Given the description of an element on the screen output the (x, y) to click on. 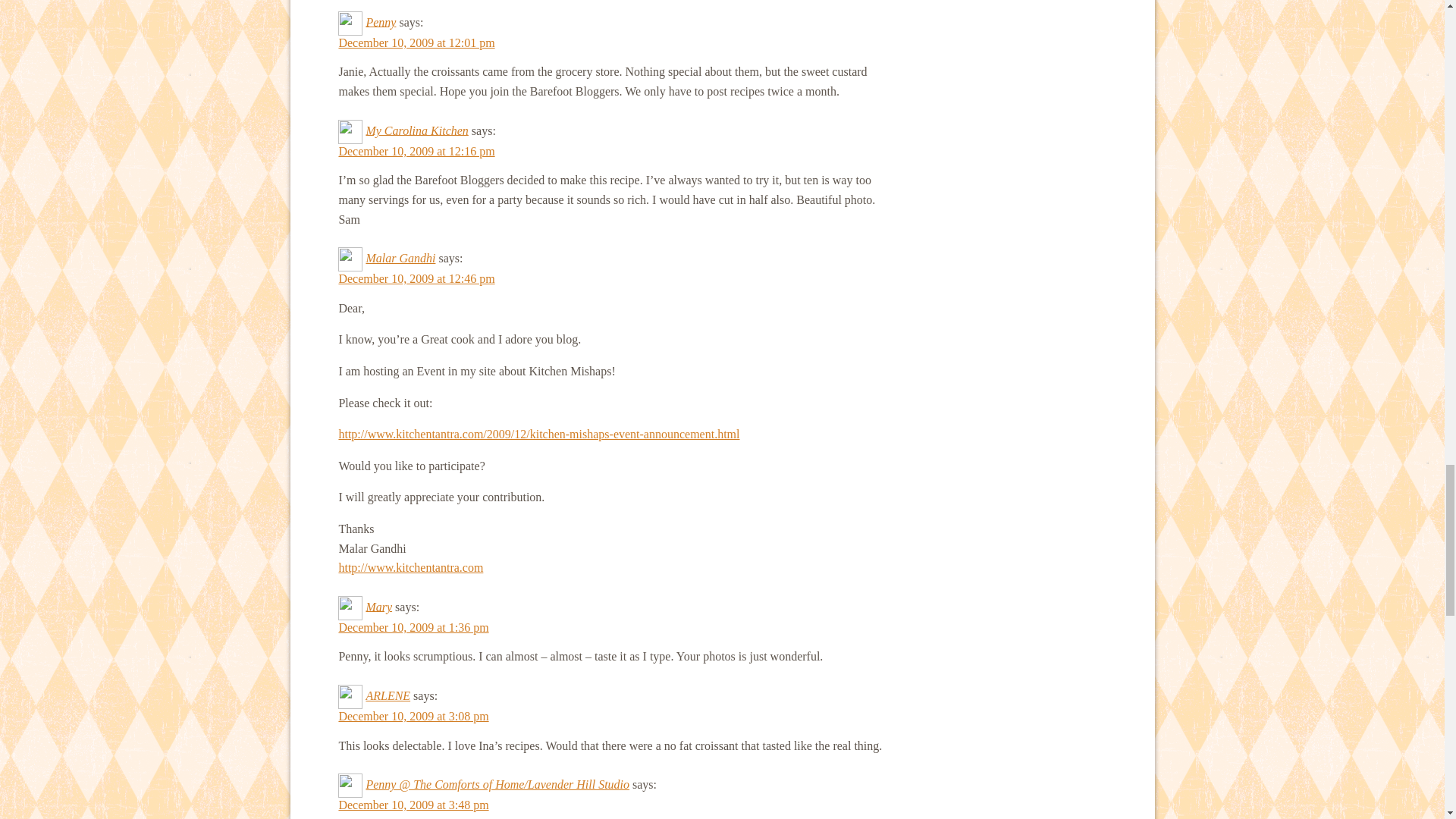
My Carolina Kitchen (416, 129)
Malar Gandhi (400, 257)
December 10, 2009 at 12:46 pm (416, 278)
December 10, 2009 at 12:01 pm (416, 42)
Penny (380, 21)
December 10, 2009 at 12:16 pm (416, 151)
